Given the description of an element on the screen output the (x, y) to click on. 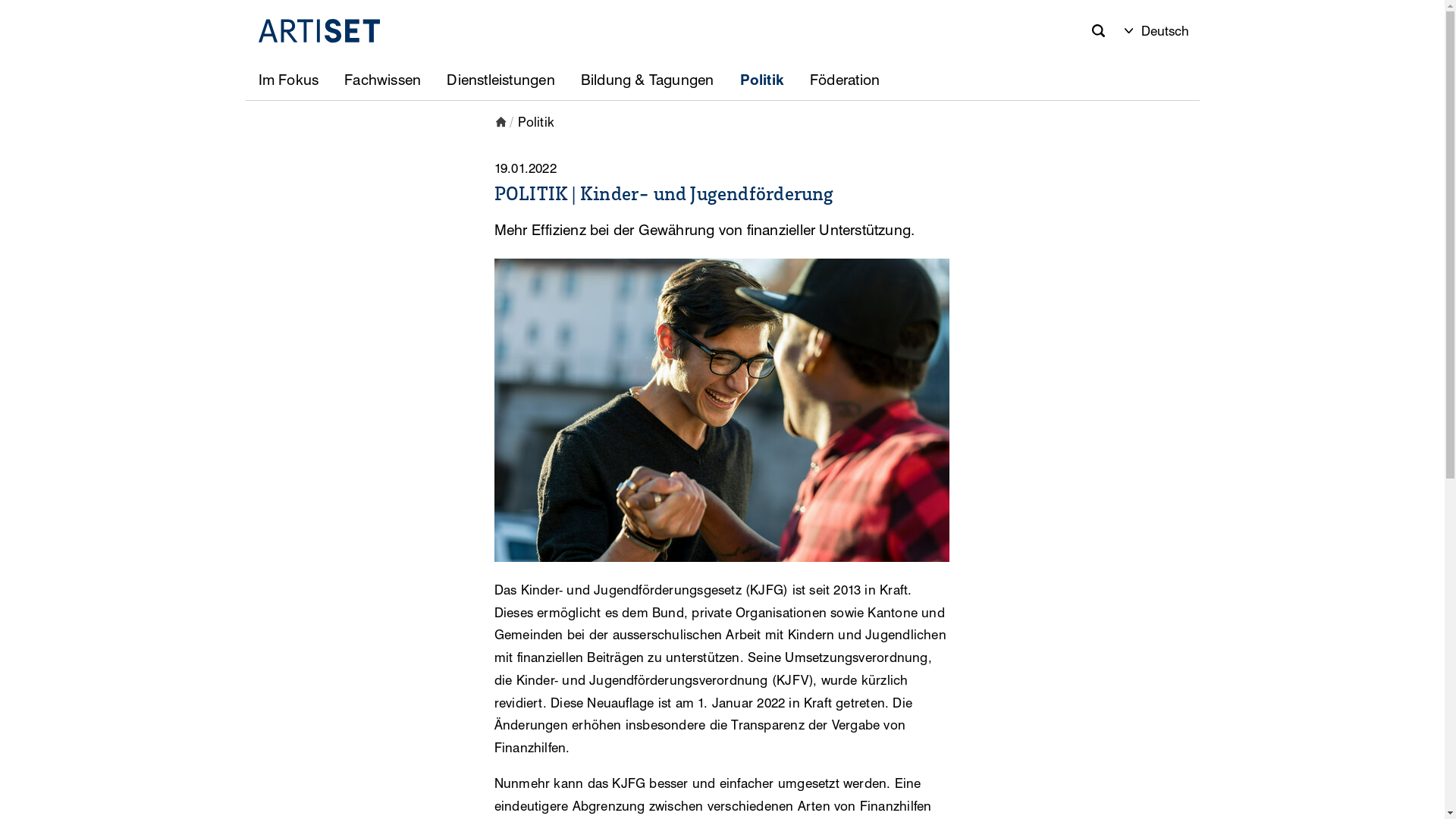
Fachwissen Element type: text (382, 80)
Politik Element type: text (762, 80)
Im Fokus Element type: text (288, 80)
Deutsch Element type: text (1156, 31)
Bildung & Tagungen Element type: text (647, 80)
Dienstleistungen Element type: text (500, 80)
Politik Element type: text (536, 121)
